Given the description of an element on the screen output the (x, y) to click on. 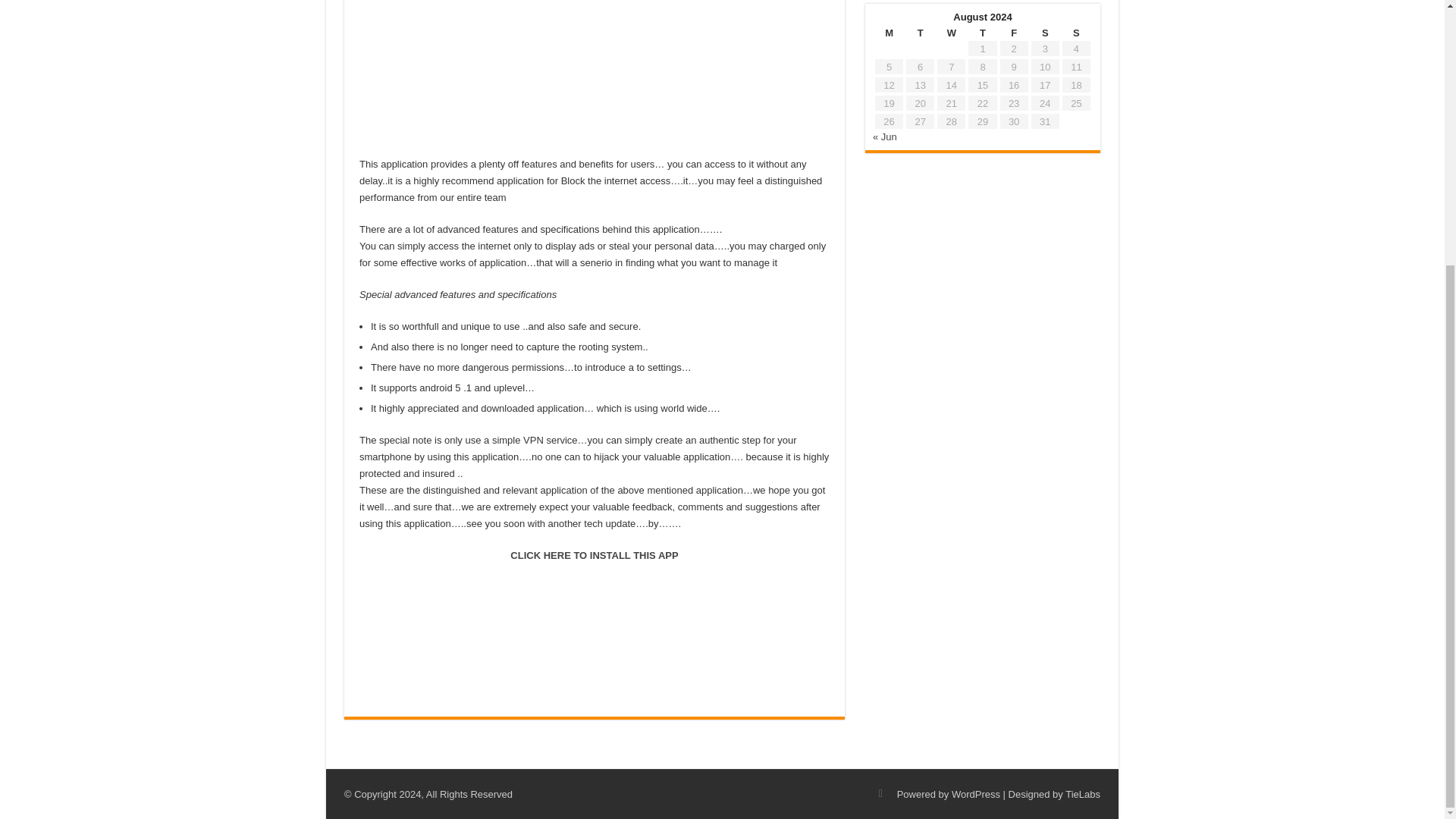
WordPress (976, 794)
Monday (889, 32)
TieLabs (1082, 794)
CLICK HERE TO INSTALL THIS APP (594, 555)
